Given the description of an element on the screen output the (x, y) to click on. 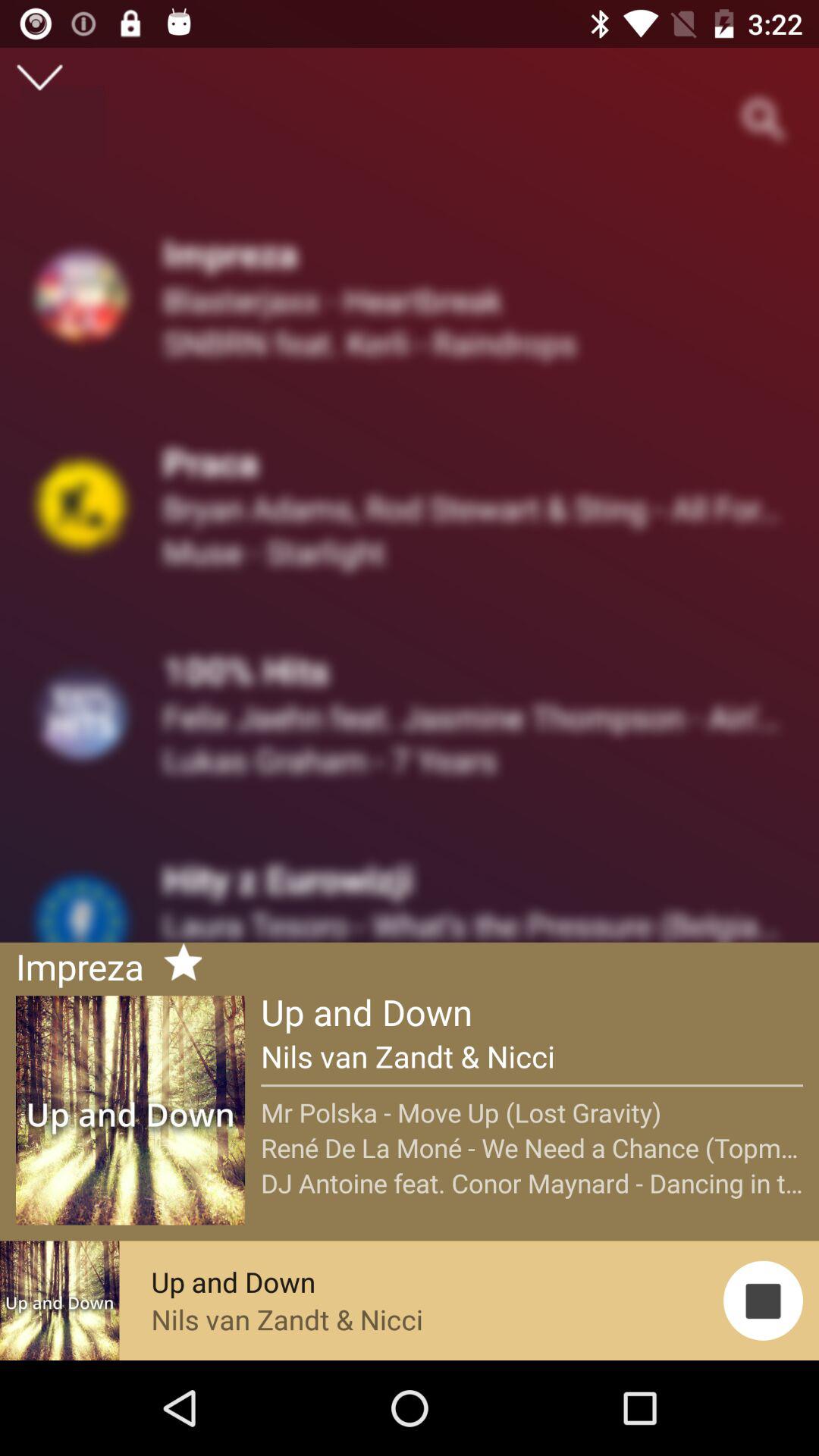
favorite the item (176, 964)
